Given the description of an element on the screen output the (x, y) to click on. 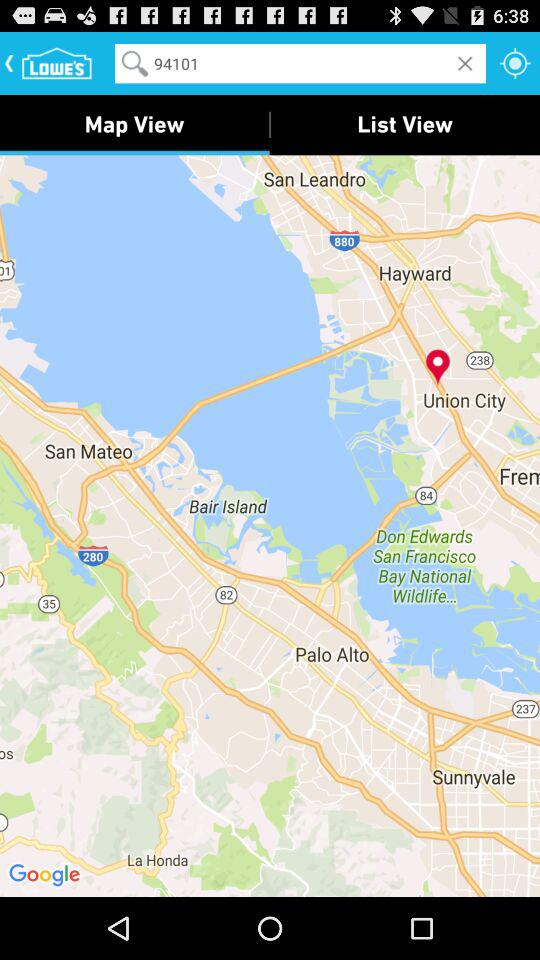
select 94101 item (300, 62)
